Given the description of an element on the screen output the (x, y) to click on. 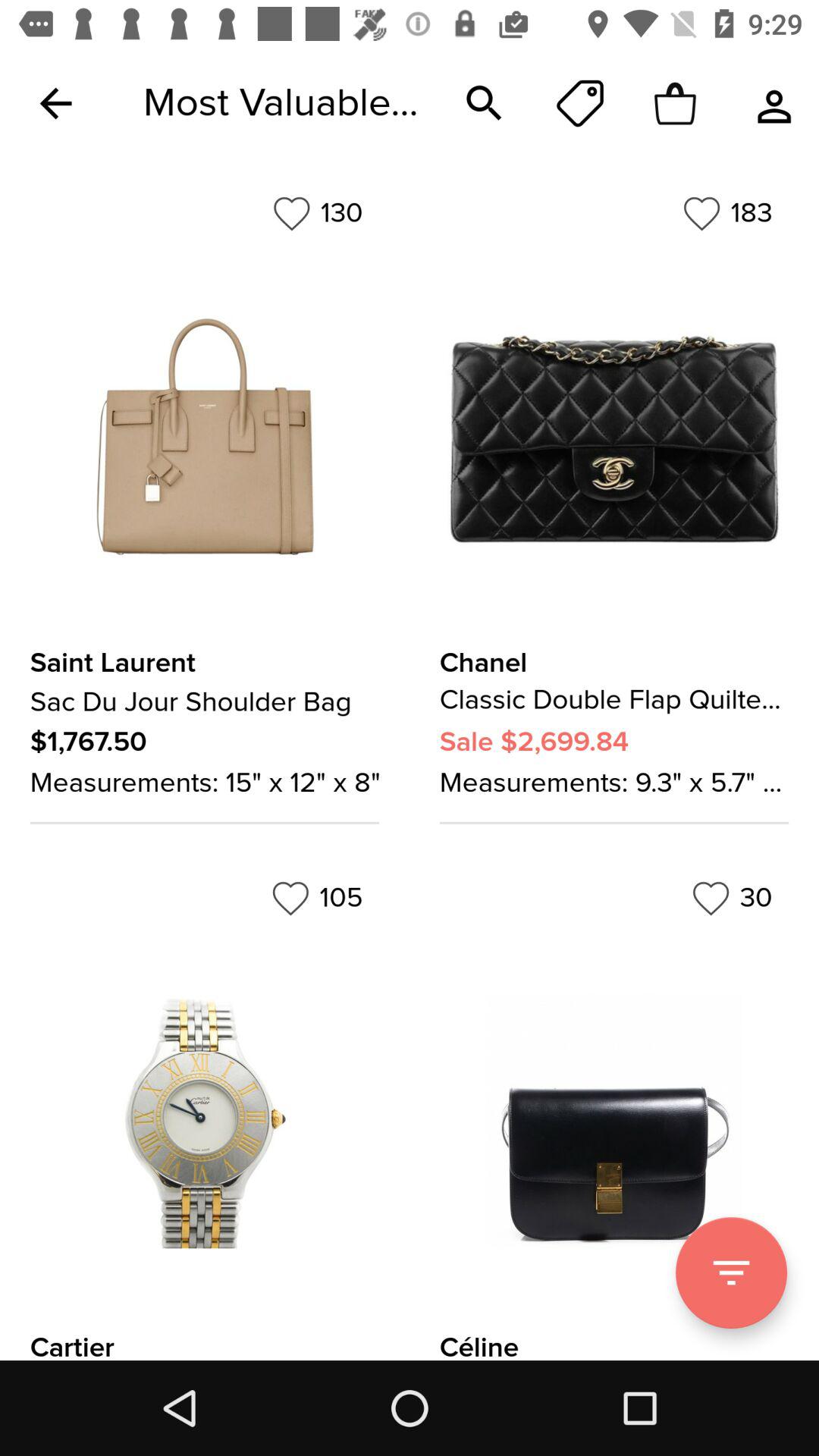
press the icon below 30 (731, 1272)
